Given the description of an element on the screen output the (x, y) to click on. 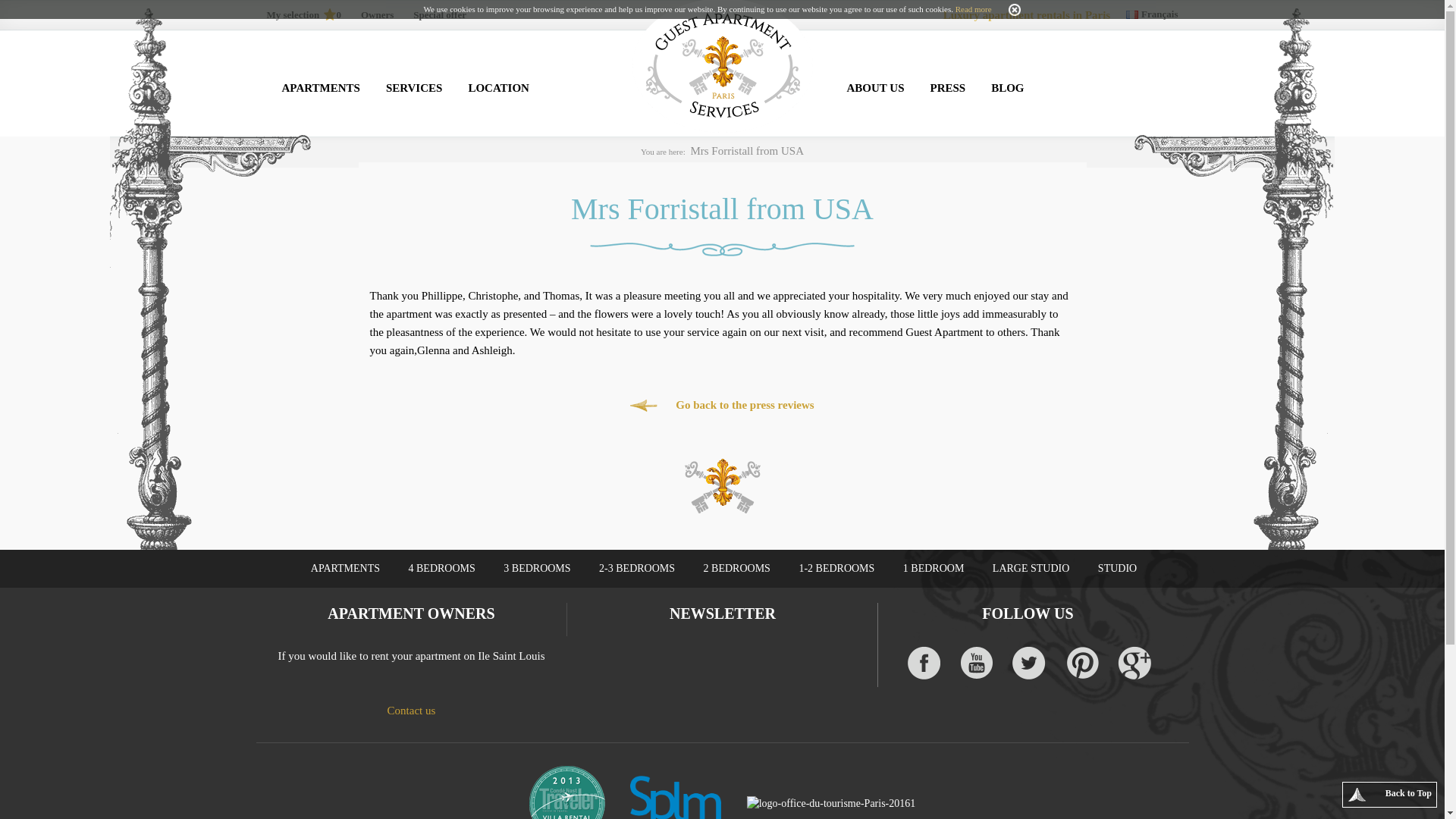
Special offer (439, 14)
Guest Apartment Services Paris Logo (721, 66)
STUDIO (1117, 568)
1 BEDROOM (933, 568)
My selection 0 (302, 14)
ABOUT US (875, 87)
2-3 BEDROOMS (636, 568)
close (1014, 9)
1-2 BEDROOMS (836, 568)
BLOG (1007, 87)
APARTMENTS (320, 87)
Go back to the press reviews (721, 405)
Owners (376, 14)
Contact us (411, 710)
LOCATION (498, 87)
